Given the description of an element on the screen output the (x, y) to click on. 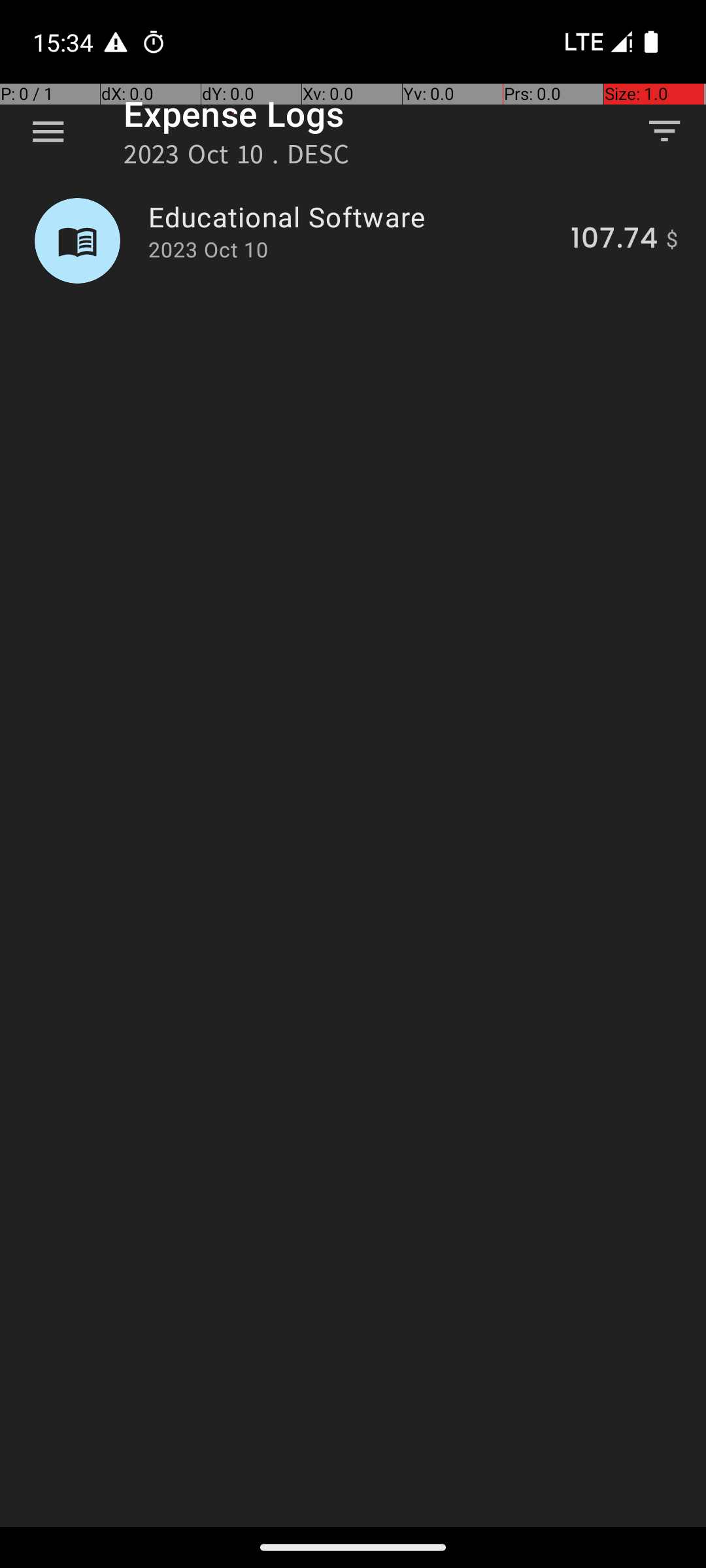
Expense Logs Element type: android.widget.TextView (233, 113)
2023 Oct 10 . DESC Element type: android.widget.TextView (236, 157)
Filter Element type: android.widget.TextView (664, 131)
Educational Software Element type: android.widget.TextView (351, 216)
107.74 Element type: android.widget.TextView (614, 240)
$ Element type: android.widget.TextView (671, 240)
